Given the description of an element on the screen output the (x, y) to click on. 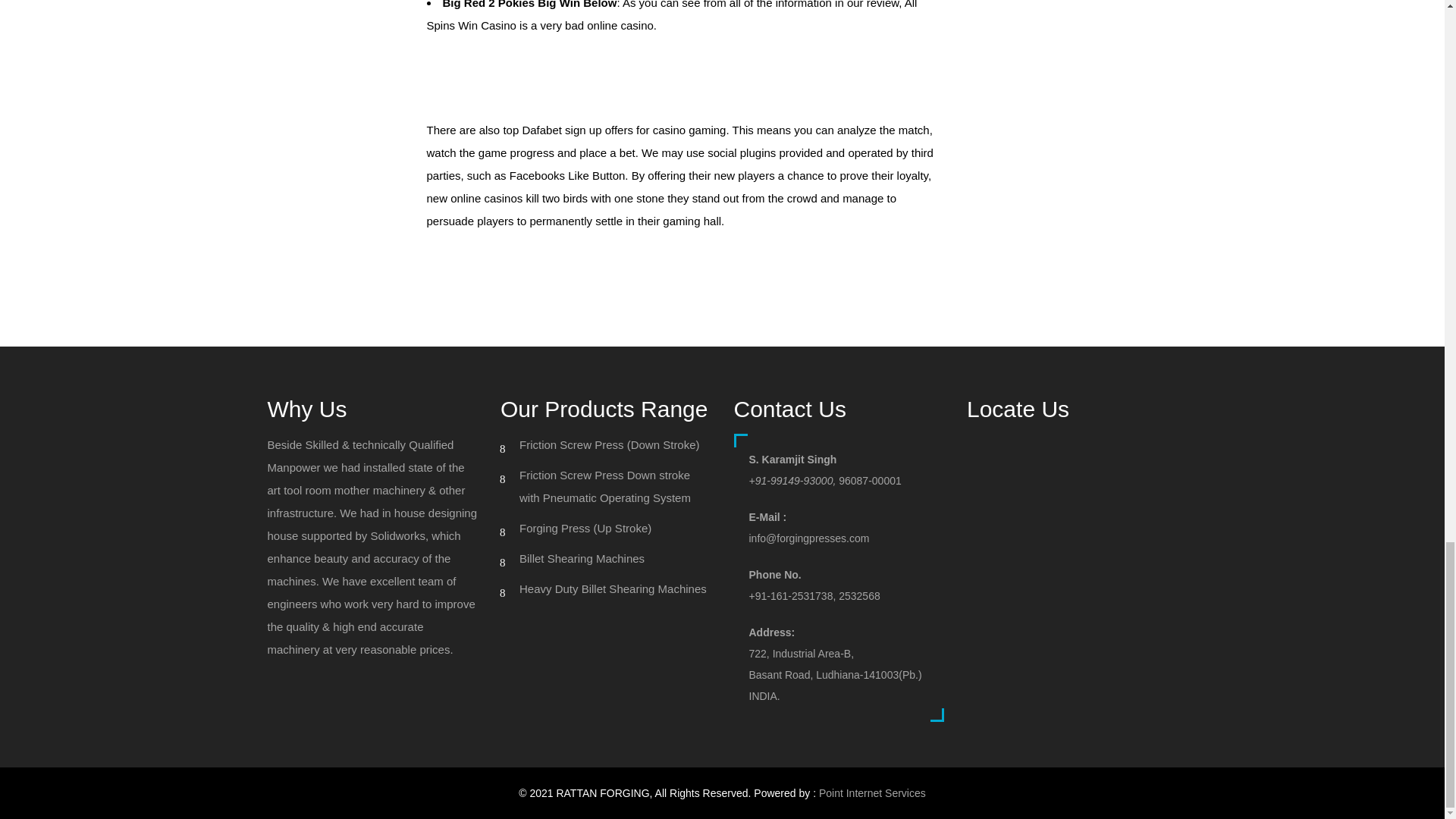
Free Casino Bonus No Deposit Au (512, 258)
Billet Shearing Machines (582, 558)
Point Internet Services (872, 793)
Heavy Duty Billet Shearing Machines (612, 588)
